Given the description of an element on the screen output the (x, y) to click on. 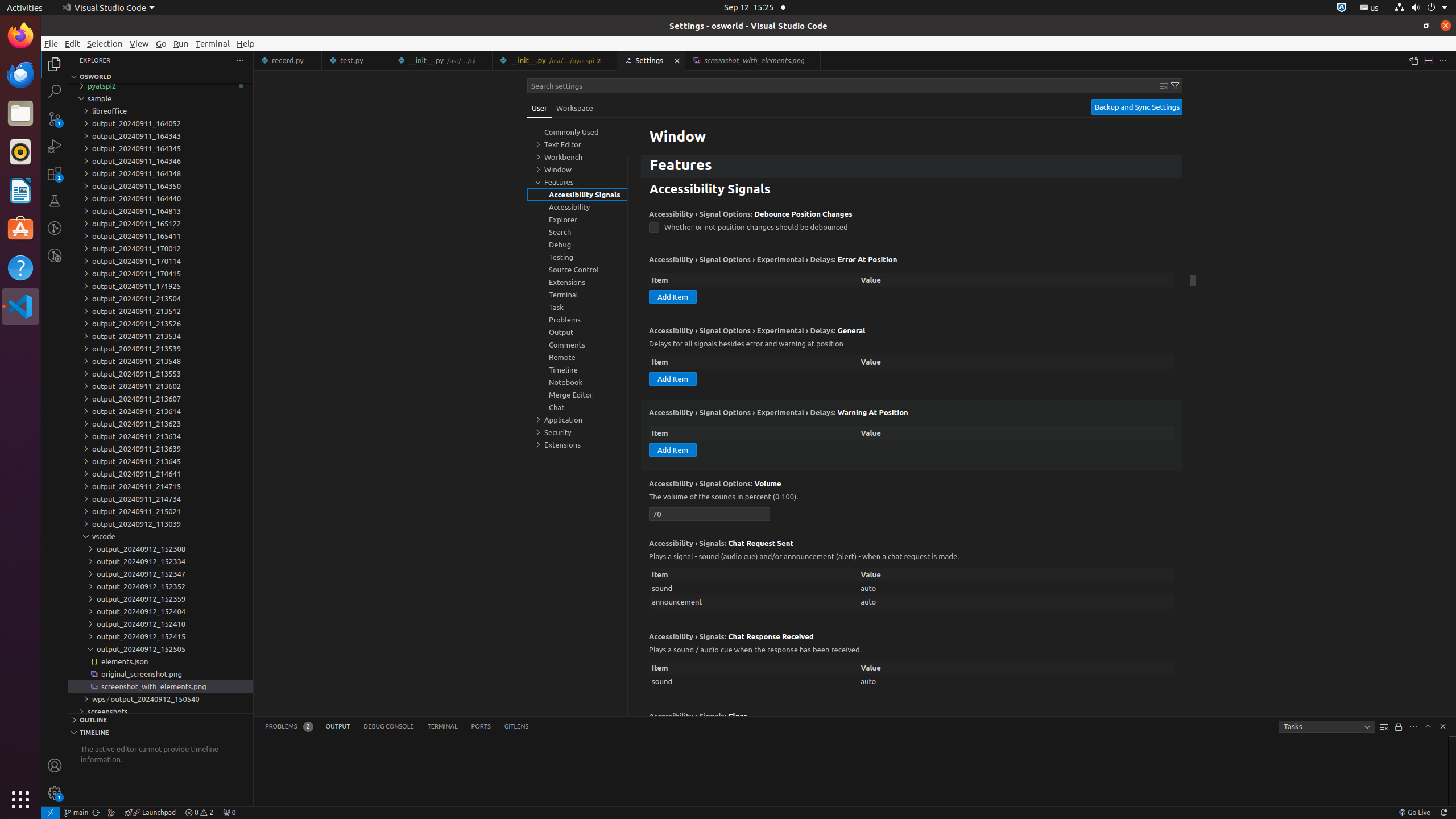
Manage - New Code update available. Element type: push-button (54, 792)
Testing Element type: page-tab (54, 200)
output_20240911_213645 Element type: tree-item (160, 461)
Explorer Section: osworld Element type: push-button (160, 76)
